Given the description of an element on the screen output the (x, y) to click on. 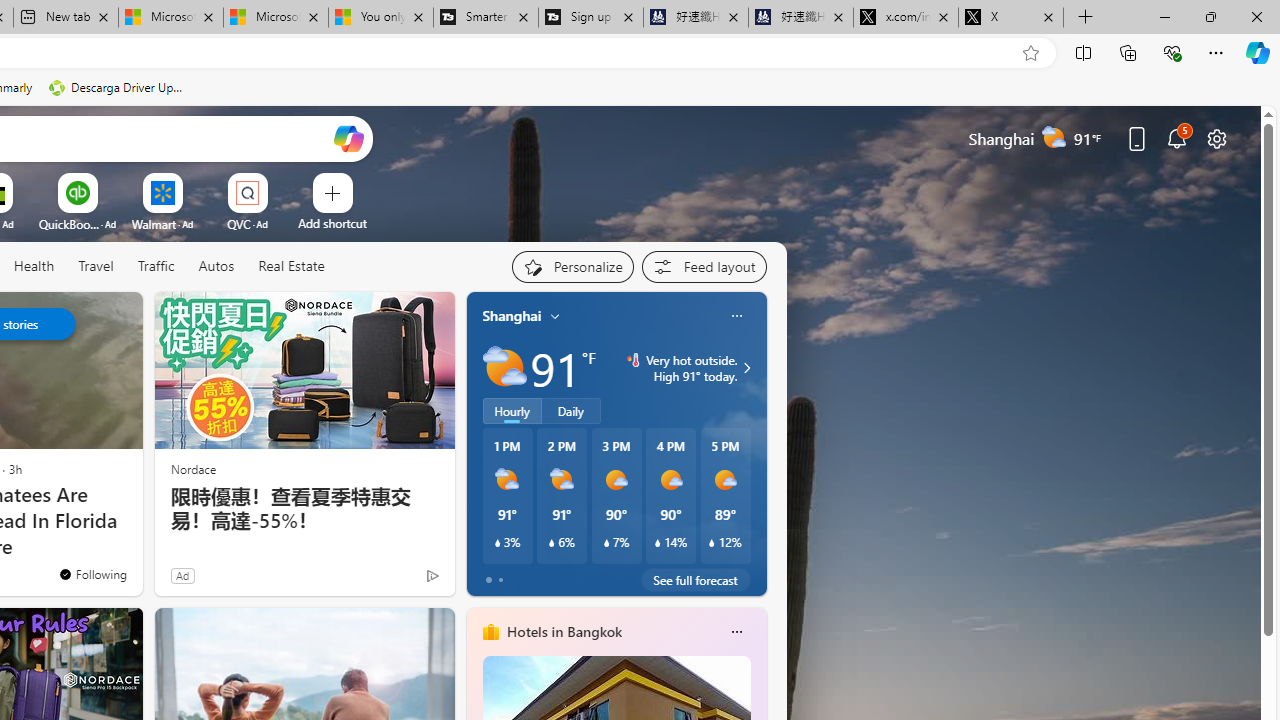
My location (555, 315)
Shanghai (511, 315)
Smarter Living | T3 (485, 17)
